Given the description of an element on the screen output the (x, y) to click on. 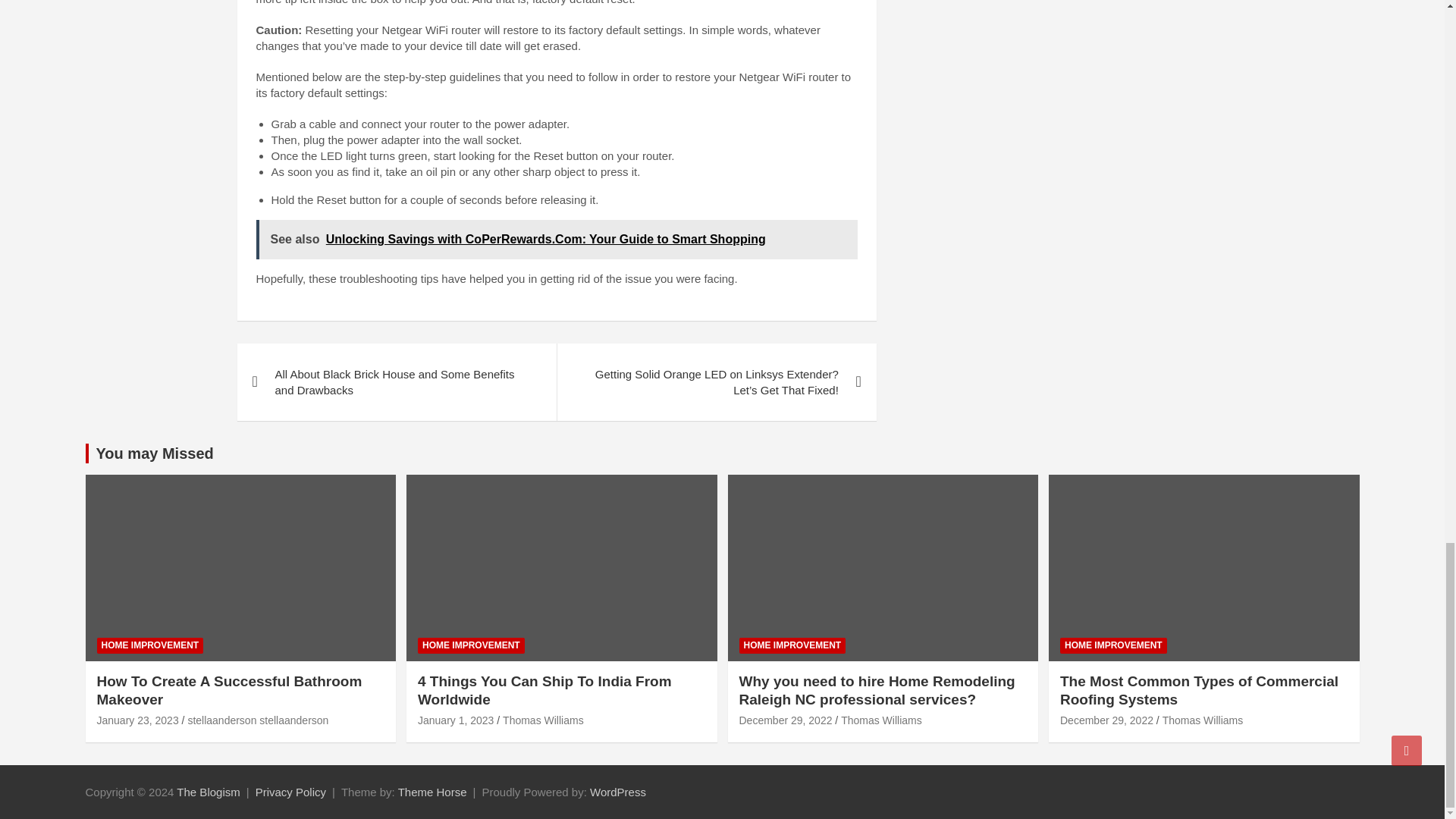
The Blogism (208, 791)
How To Create A Successful Bathroom Makeover (138, 720)
4 Things You Can Ship To India From Worldwide (455, 720)
The Most Common Types of Commercial Roofing Systems (1106, 720)
Theme Horse (432, 791)
WordPress (617, 791)
